Given the description of an element on the screen output the (x, y) to click on. 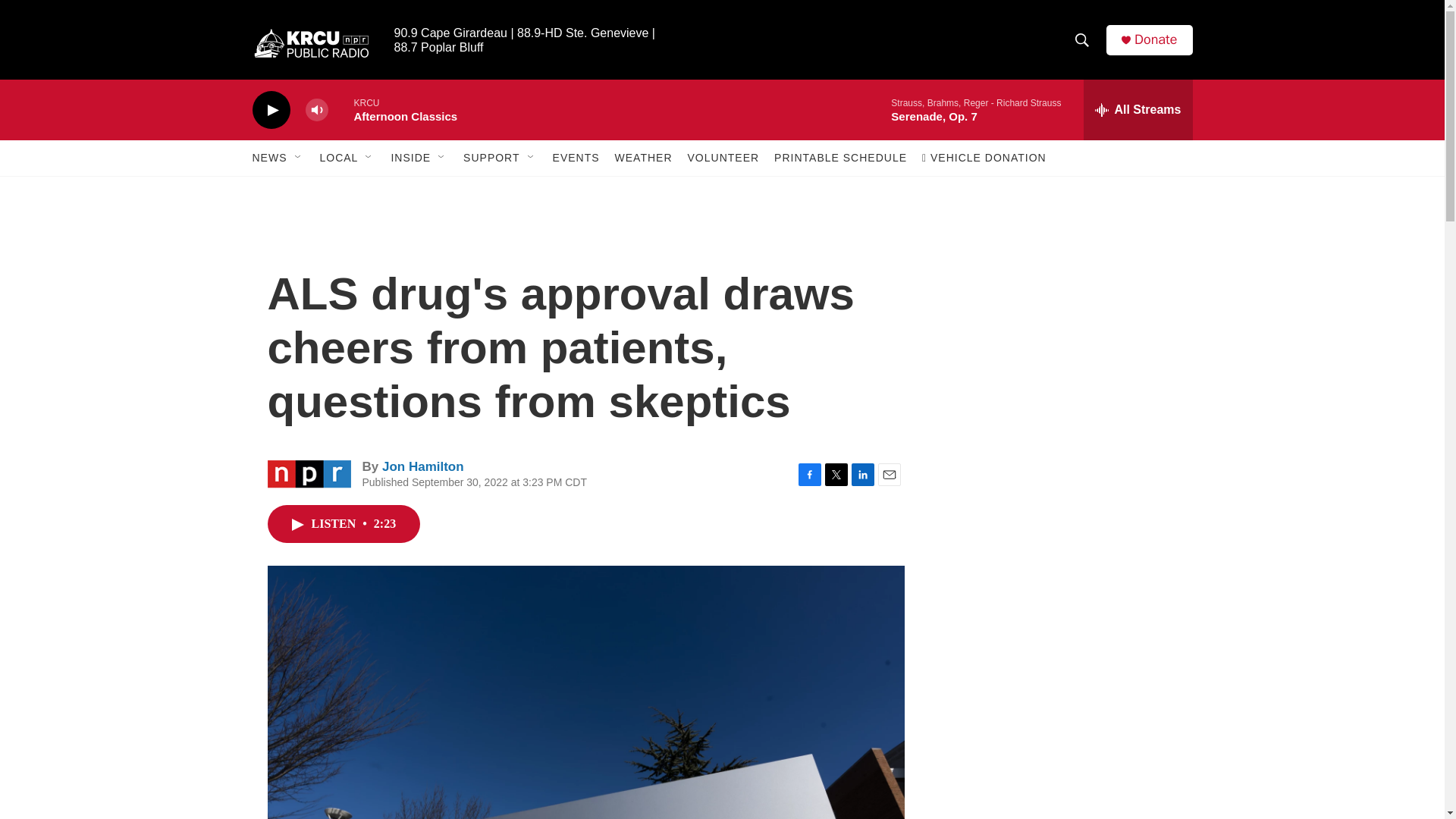
3rd party ad content (1062, 740)
3rd party ad content (1063, 536)
3rd party ad content (1062, 316)
